Given the description of an element on the screen output the (x, y) to click on. 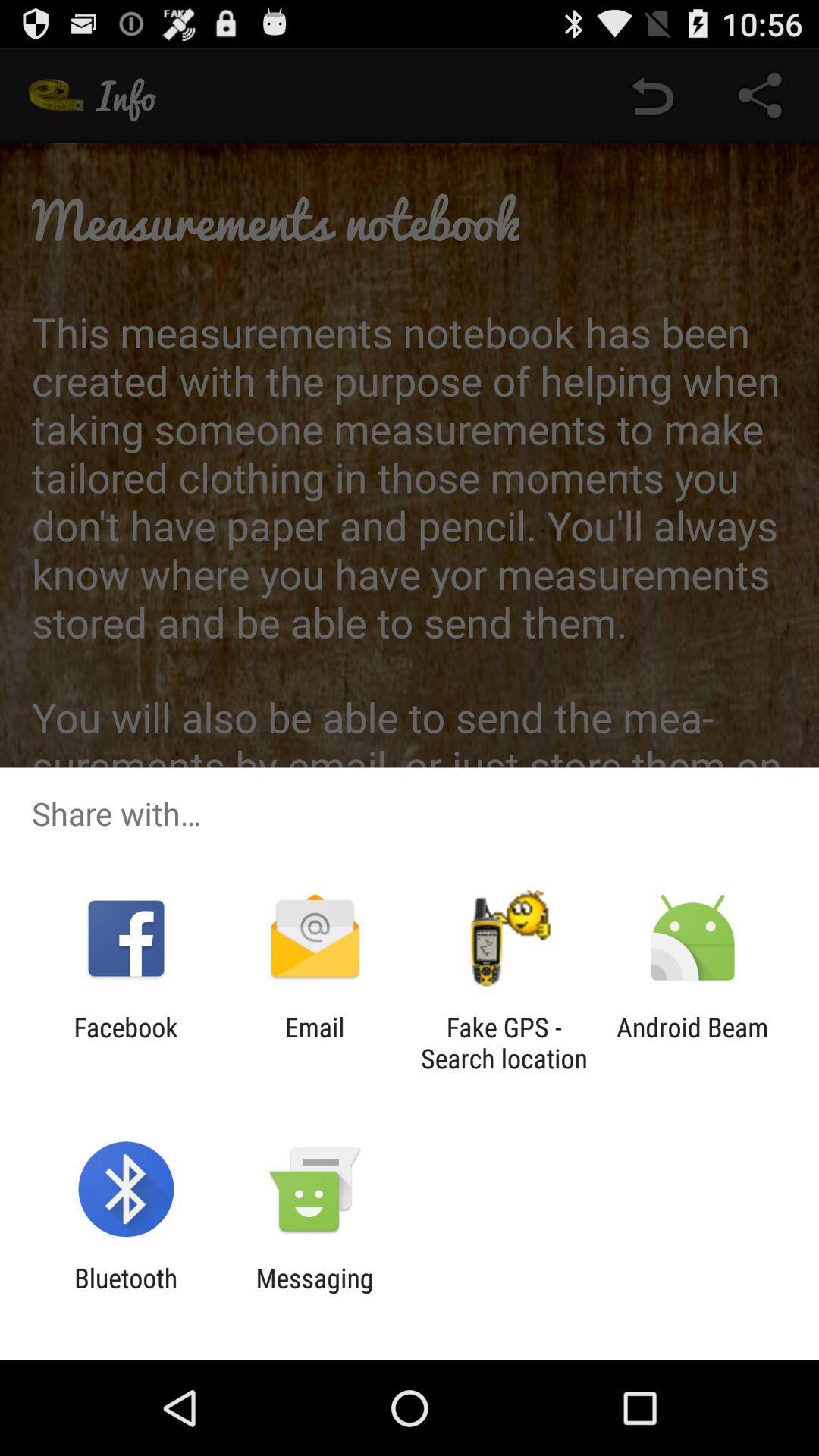
open the bluetooth icon (125, 1293)
